Given the description of an element on the screen output the (x, y) to click on. 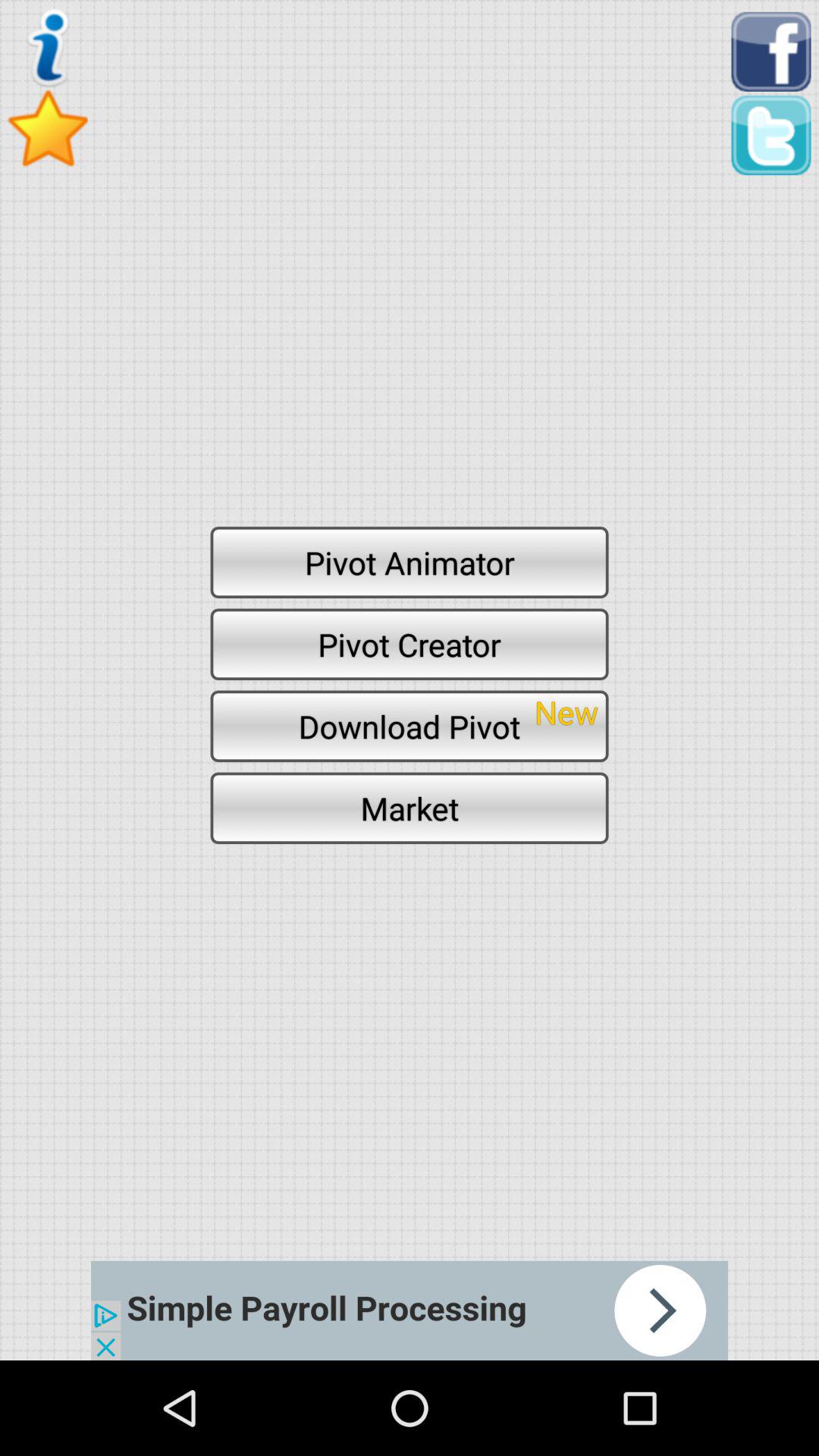
select the market icon (409, 808)
